Given the description of an element on the screen output the (x, y) to click on. 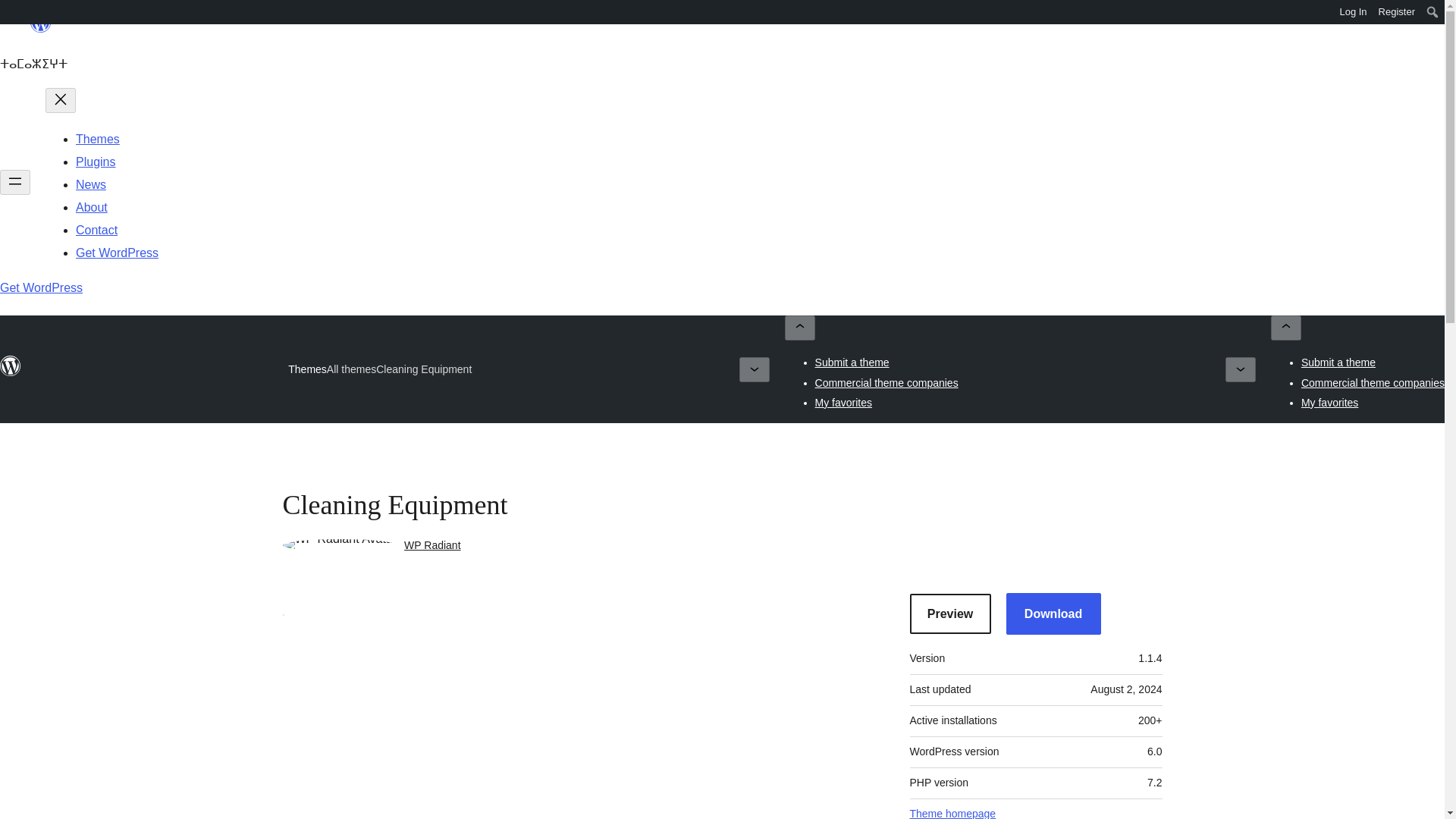
WordPress.org (10, 365)
WP Radiant (432, 544)
About (91, 206)
Submit a theme (852, 362)
Register (1397, 12)
Plugins (95, 161)
Themes (307, 369)
Contact (96, 229)
Preview (950, 613)
Themes (97, 138)
